Given the description of an element on the screen output the (x, y) to click on. 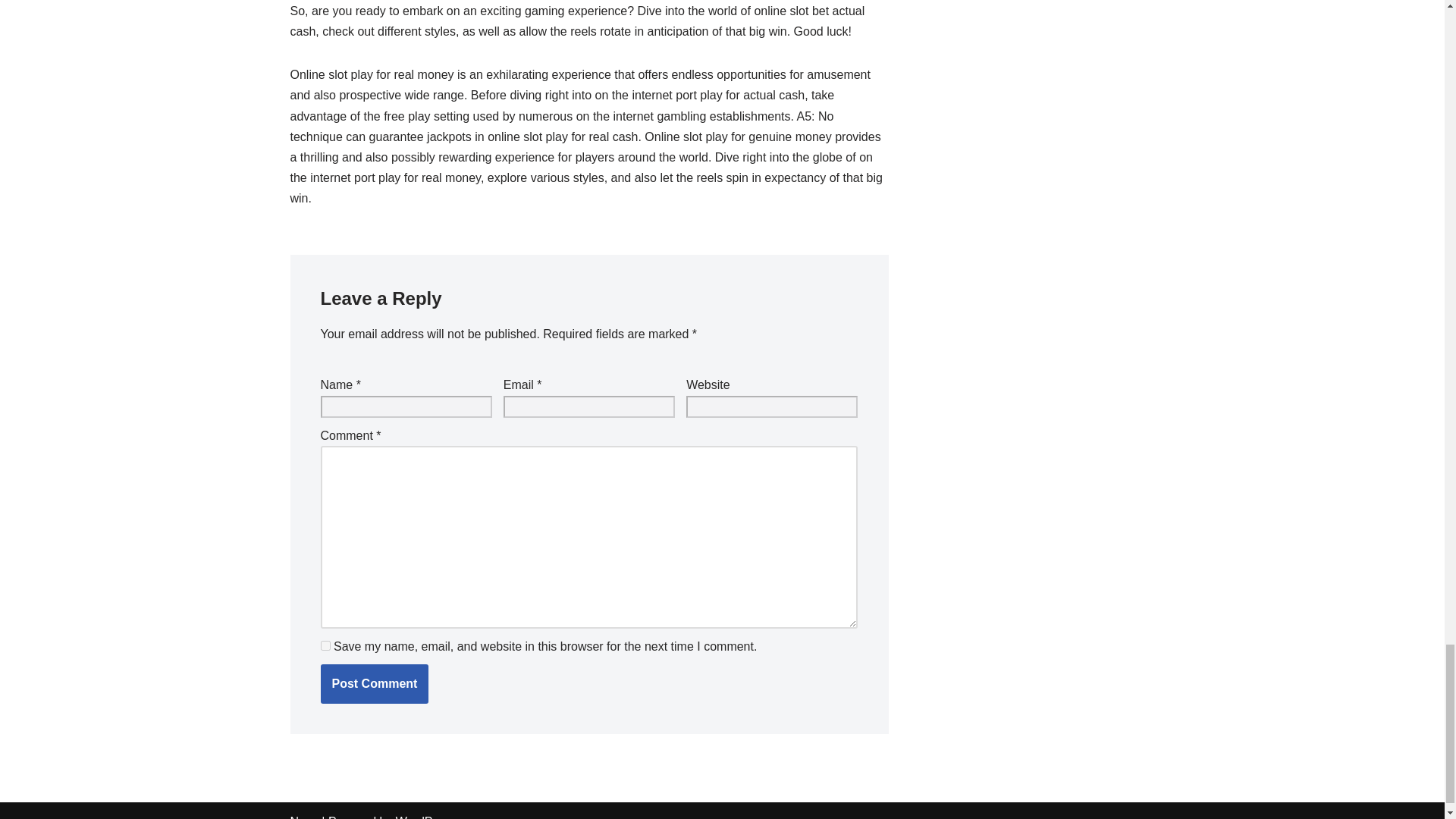
yes (325, 645)
Post Comment (374, 683)
Post Comment (374, 683)
